Given the description of an element on the screen output the (x, y) to click on. 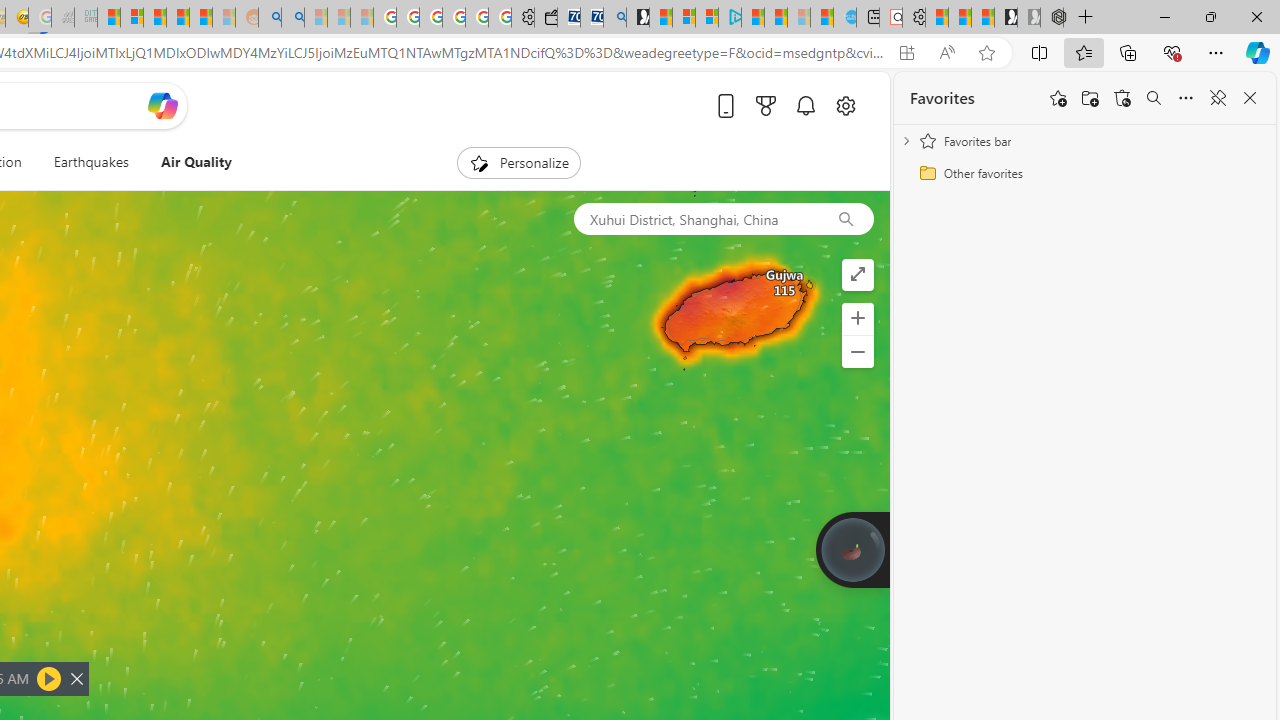
Zoom out (858, 351)
Navy Quest (63, 17)
Student Loan Update: Forgiveness Program Ends This Month (200, 17)
Add this page to favorites (1058, 98)
Unpin favorites (1217, 98)
Microsoft account | Privacy (707, 17)
Xuhui District, Shanghai, China (695, 218)
DITOGAMES AG Imprint - Sleeping (86, 17)
App available. Install Microsoft Start Weather (906, 53)
Join us in planting real trees to help our planet! (852, 548)
